Given the description of an element on the screen output the (x, y) to click on. 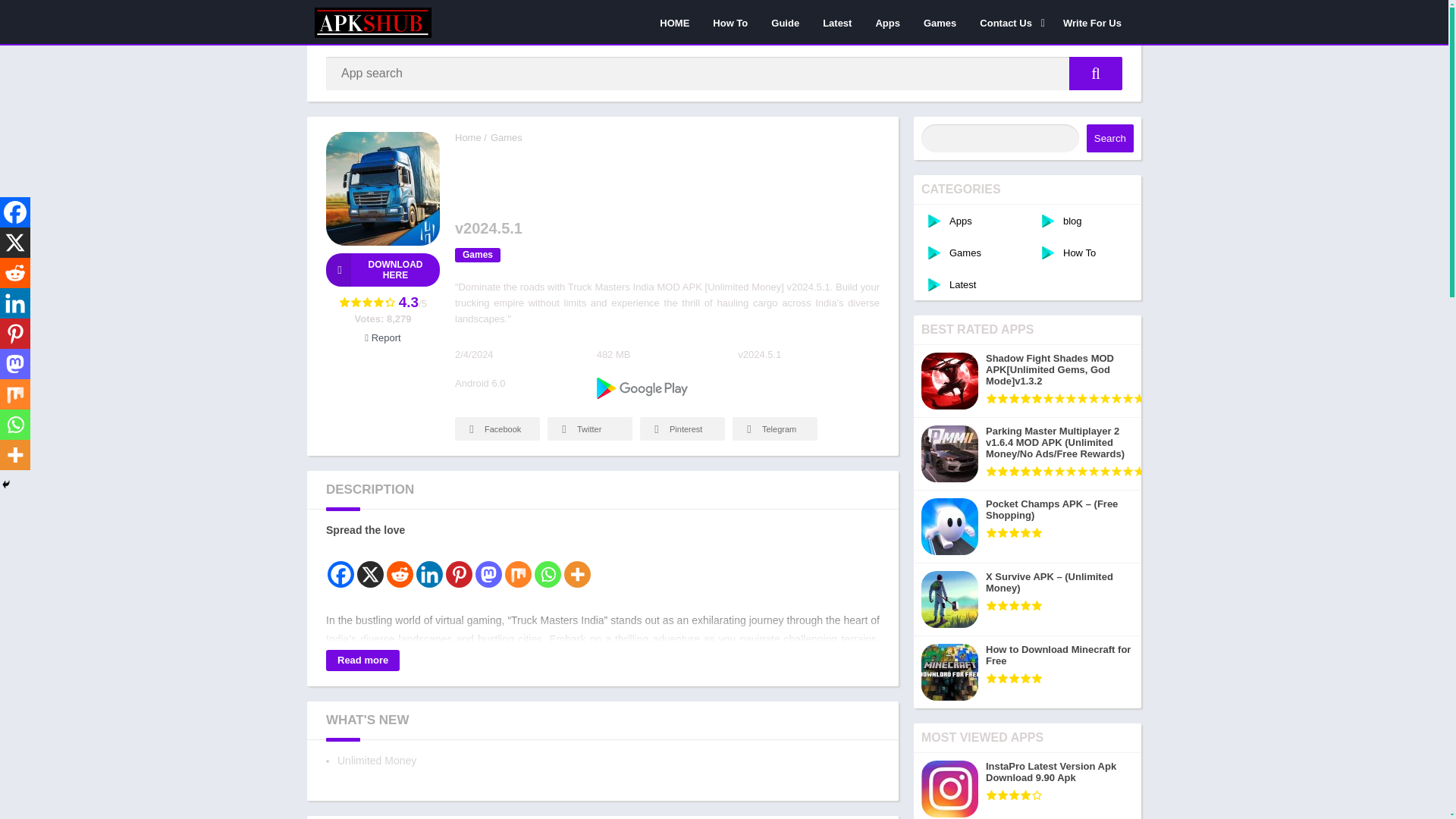
HOME (673, 22)
Download Here (382, 269)
Games (940, 22)
Latest (836, 22)
Guide (785, 22)
Games (506, 137)
Write For Us (1091, 22)
Apps (887, 22)
DOWNLOAD HERE (382, 269)
Report (382, 337)
Twitter (589, 428)
Home (467, 137)
Pinterest (682, 428)
Contact Us (1009, 22)
Games (477, 255)
